Given the description of an element on the screen output the (x, y) to click on. 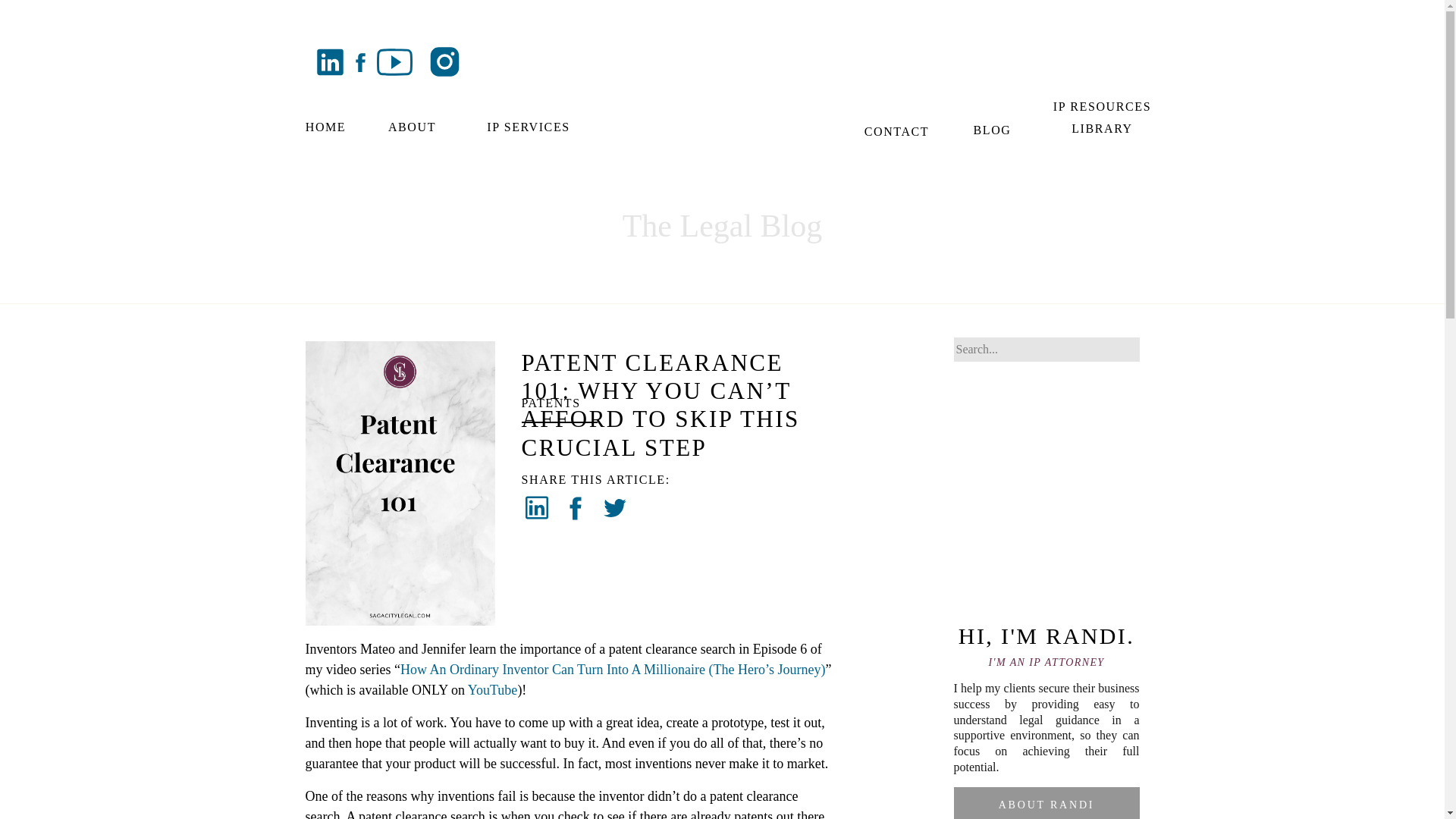
IP SERVICES (528, 124)
CONTACT (896, 129)
PATENTS (550, 402)
YouTube (492, 689)
HOME (325, 124)
BLOG (992, 127)
ABOUT (412, 124)
IP RESOURCES LIBRARY (1102, 115)
ABOUT RANDI (1046, 805)
